Given the description of an element on the screen output the (x, y) to click on. 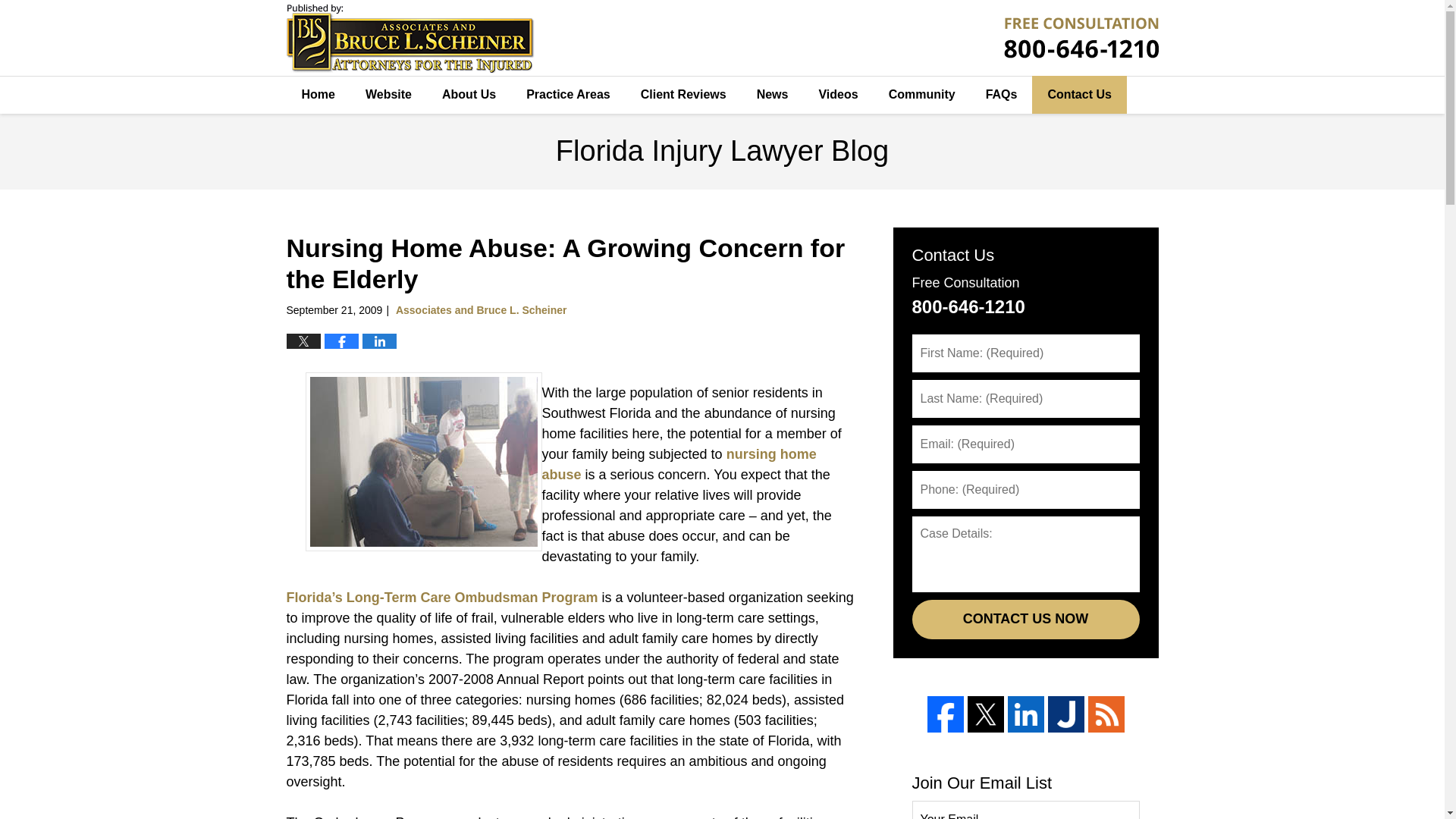
Community (922, 94)
Home (318, 94)
LinkedIn (1025, 714)
Twitter (986, 714)
Website (388, 94)
FAQs (1001, 94)
Associates and Bruce L. Scheiner (481, 309)
Videos (837, 94)
Justia (1066, 714)
Published By Bruce L. Scheiner (1081, 37)
News (772, 94)
nursing home abuse (678, 464)
Practice Areas (568, 94)
Client Reviews (683, 94)
Contact Us (1078, 94)
